Given the description of an element on the screen output the (x, y) to click on. 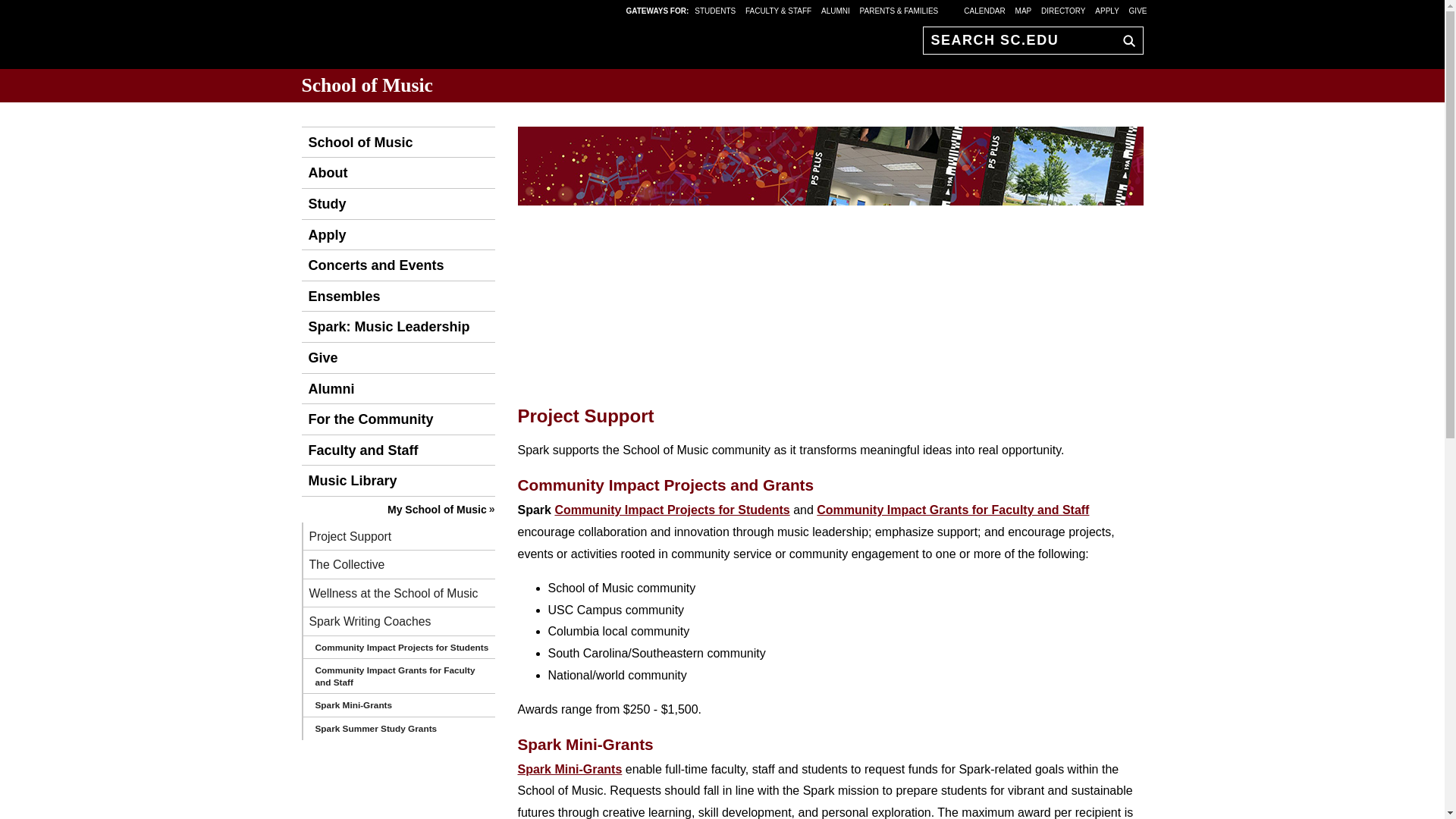
ALUMNI (835, 9)
GO (1125, 40)
DIRECTORY (1063, 9)
MAP (1023, 9)
sc.edu Search (1125, 40)
GIVE (1138, 9)
GO (1125, 40)
APPLY (1106, 9)
CALENDAR (983, 9)
University of South Carolina Home (396, 38)
